Given the description of an element on the screen output the (x, y) to click on. 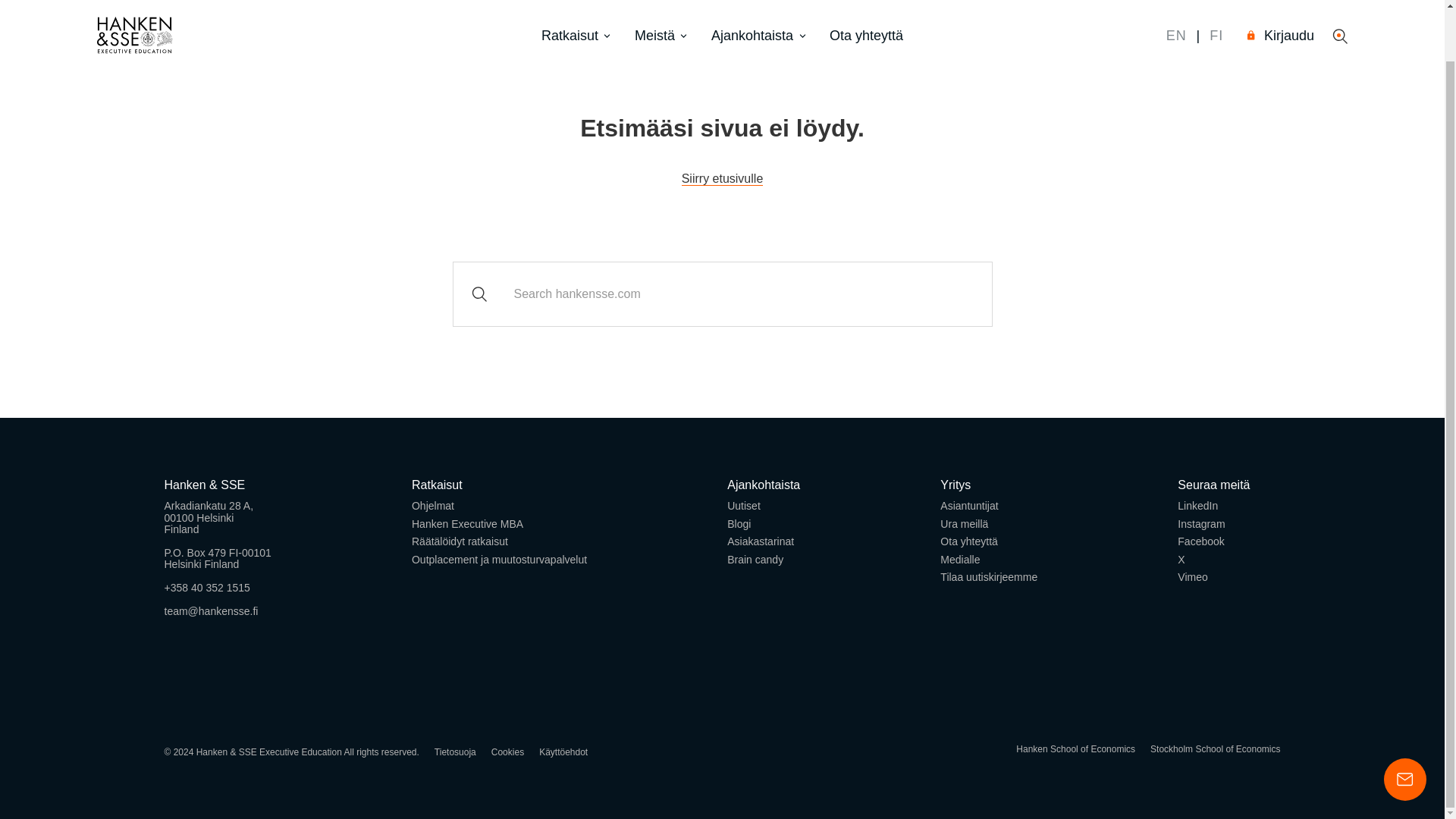
Siirry Hanken Executive MBA (467, 523)
Home (135, 1)
Home (721, 178)
Siirry Ratkaisut (437, 485)
Siirry Ohjelmat (433, 505)
Siirry Uutiset (743, 505)
Siirry Outplacement ja muutosturvapalvelut (499, 559)
Go to Google Maps (216, 540)
Siirry Ajankohtaista (762, 485)
